Given the description of an element on the screen output the (x, y) to click on. 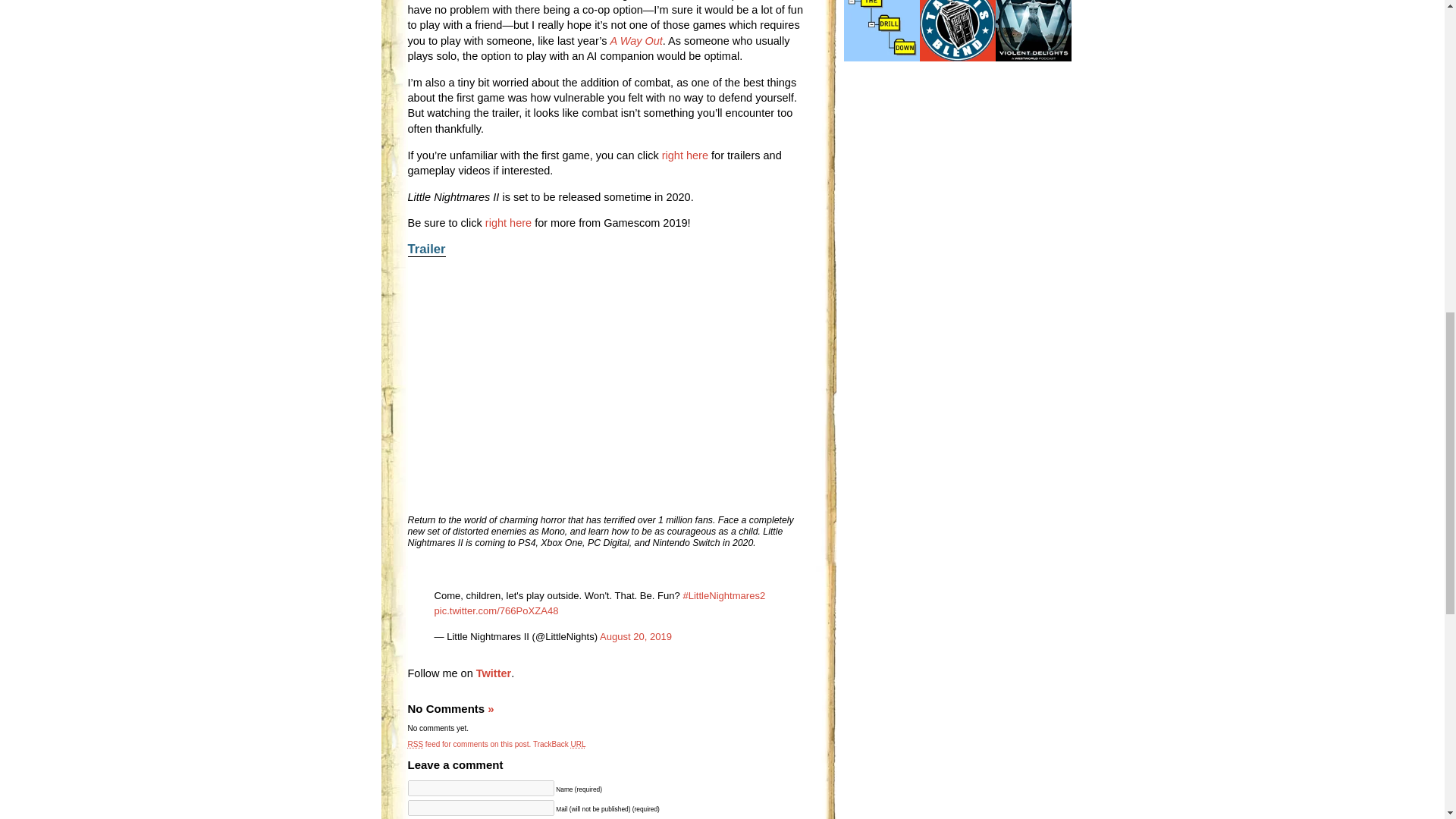
TrackBack URL (559, 744)
A Way Out (636, 40)
right here (684, 155)
Twitter (493, 673)
August 20, 2019 (635, 636)
RSS feed for comments on this post. (469, 744)
Universal Resource Locator (578, 744)
Really Simple Syndication (415, 744)
right here (507, 223)
